Given the description of an element on the screen output the (x, y) to click on. 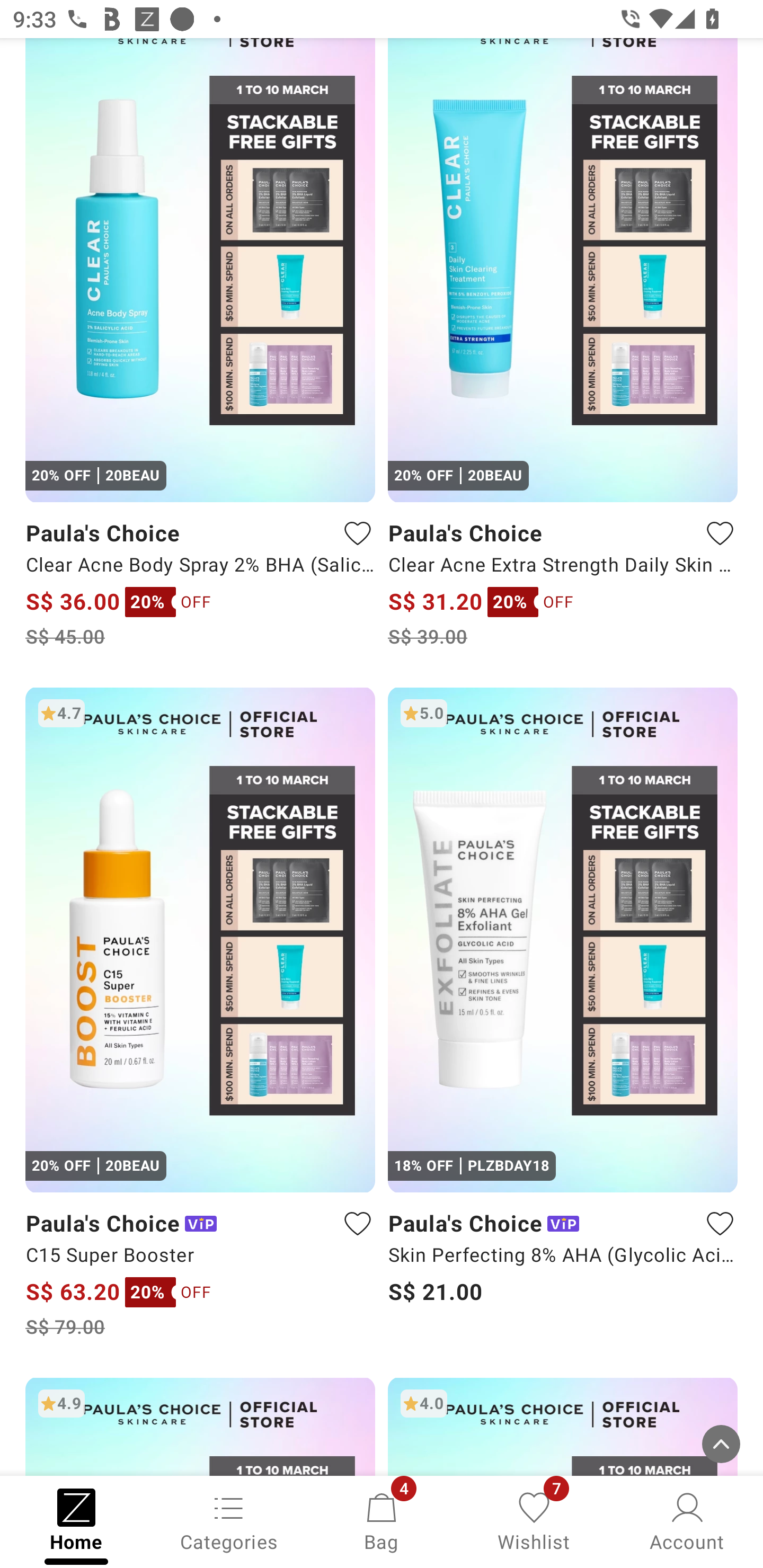
Categories (228, 1519)
Bag, 4 new notifications Bag (381, 1519)
Wishlist, 7 new notifications Wishlist (533, 1519)
Account (686, 1519)
